Given the description of an element on the screen output the (x, y) to click on. 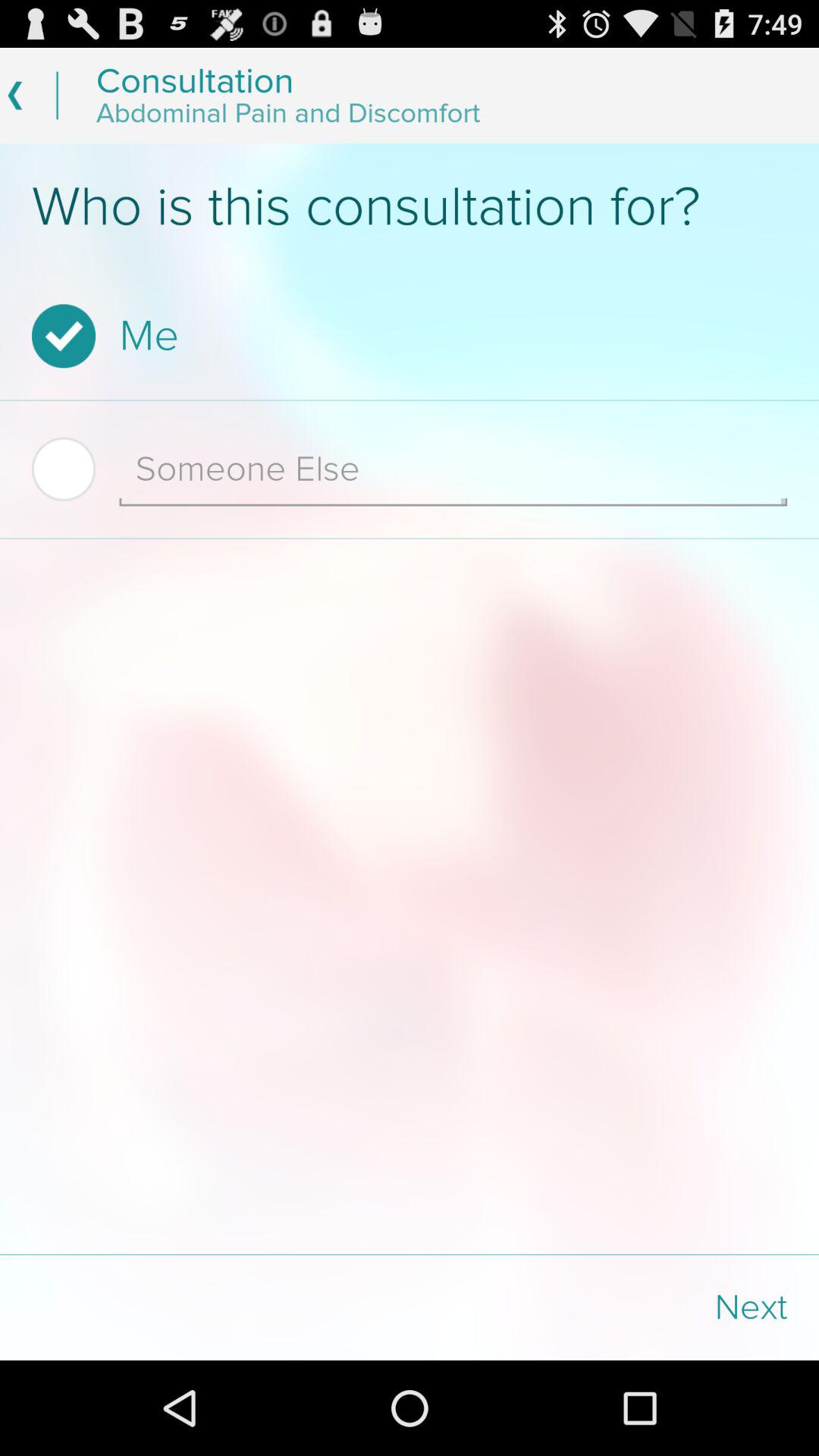
open icon above me (409, 207)
